Given the description of an element on the screen output the (x, y) to click on. 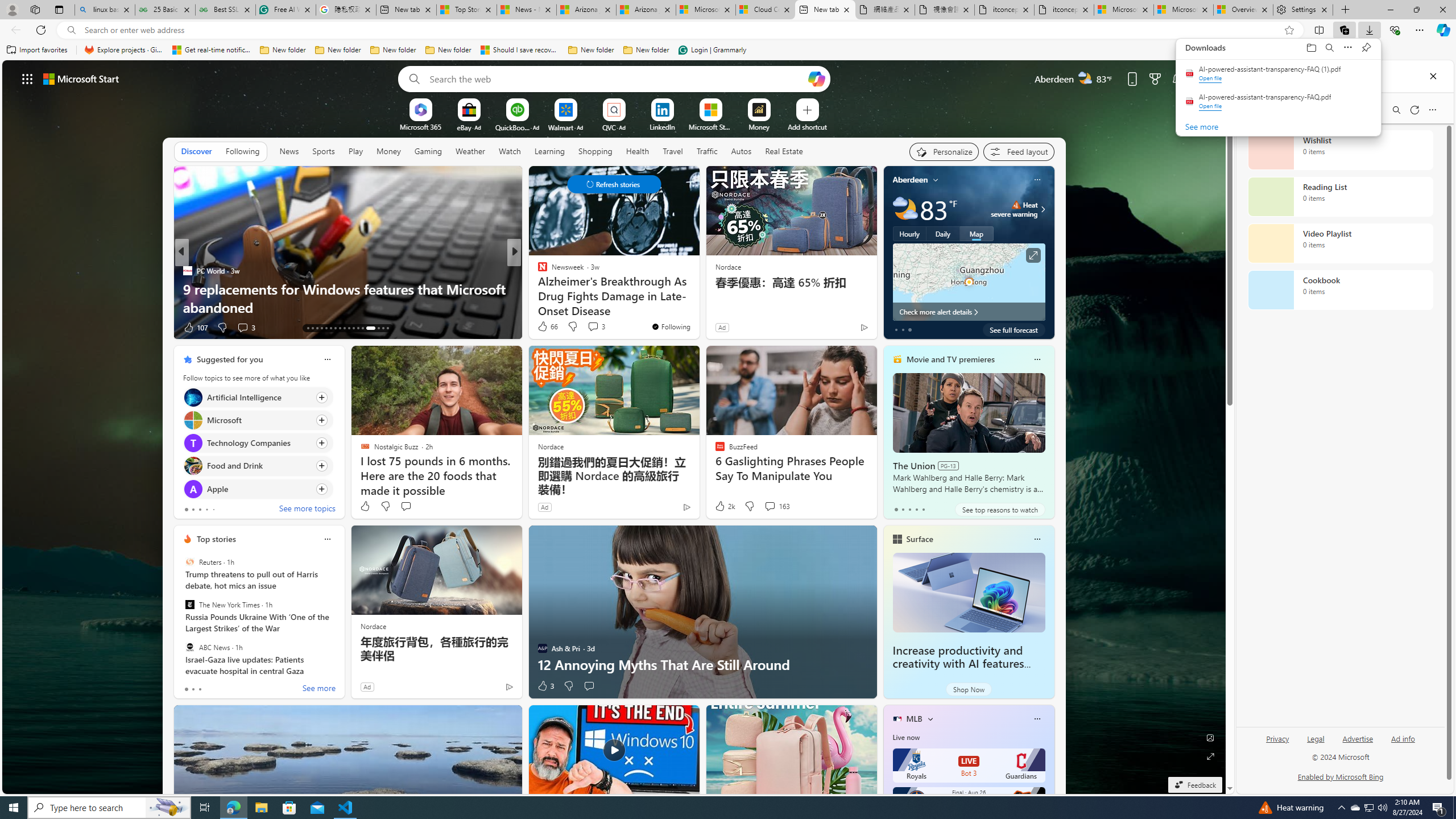
Play (354, 151)
Health (637, 151)
itconcepthk.com/projector_solutions.mp4 (1064, 9)
AutomationID: tab-18 (330, 328)
328 Like (545, 327)
Weather (470, 151)
New folder (646, 49)
107 Like (194, 327)
Click to follow topic Technology Companies (257, 442)
Top Stories - MSN (466, 9)
Watch (509, 151)
